Given the description of an element on the screen output the (x, y) to click on. 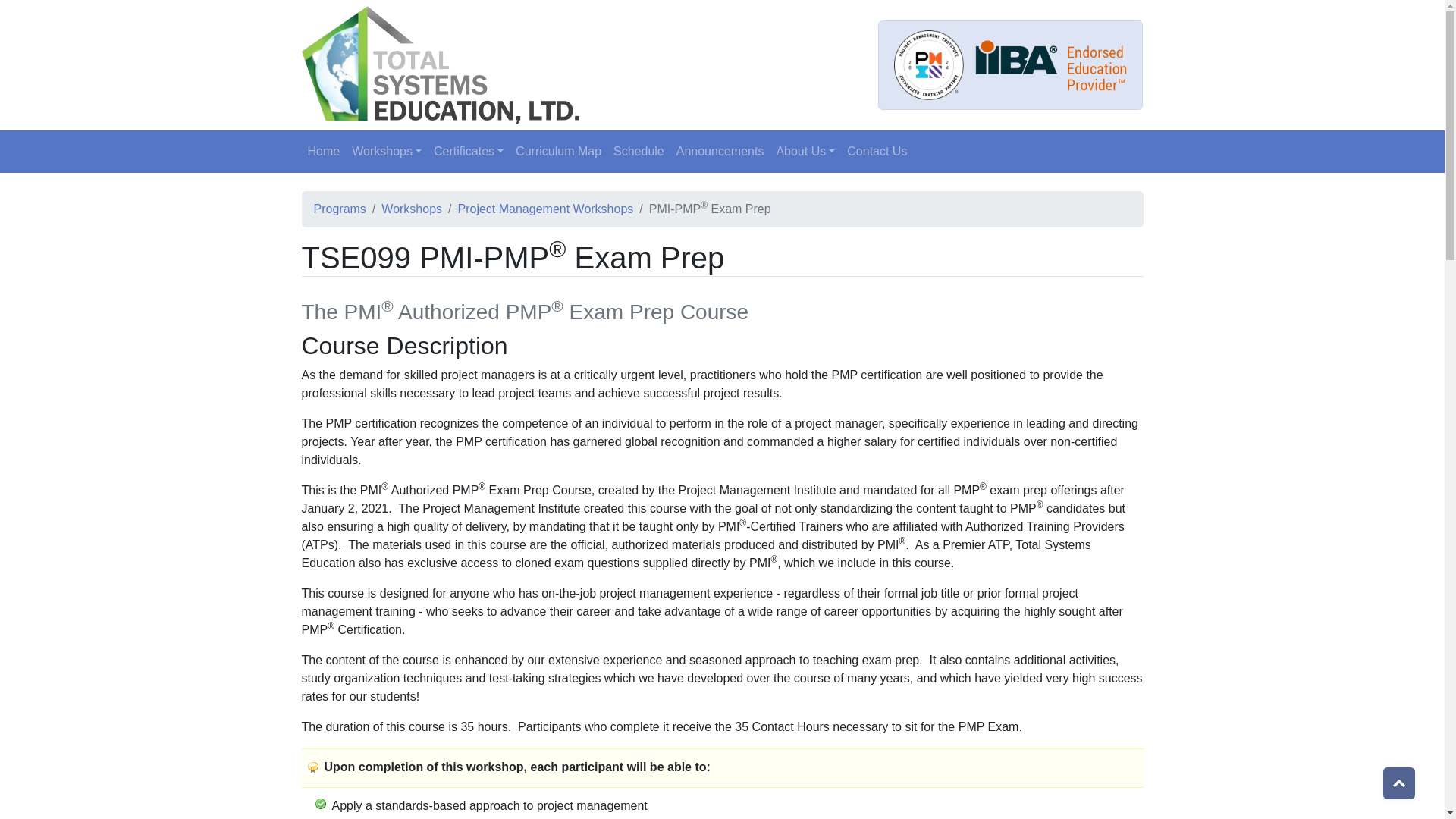
Programs (340, 208)
Certificates (468, 151)
Curriculum Map (558, 151)
Workshops (411, 208)
Project Management Institute Authorized Training Partner (927, 64)
IIBA Endorsed Education Provider (1050, 65)
Project Management Workshops (545, 208)
Schedule (638, 151)
Announcements (719, 151)
Home (323, 151)
About Us (805, 151)
Contact Us (876, 151)
Workshops (387, 151)
